Given the description of an element on the screen output the (x, y) to click on. 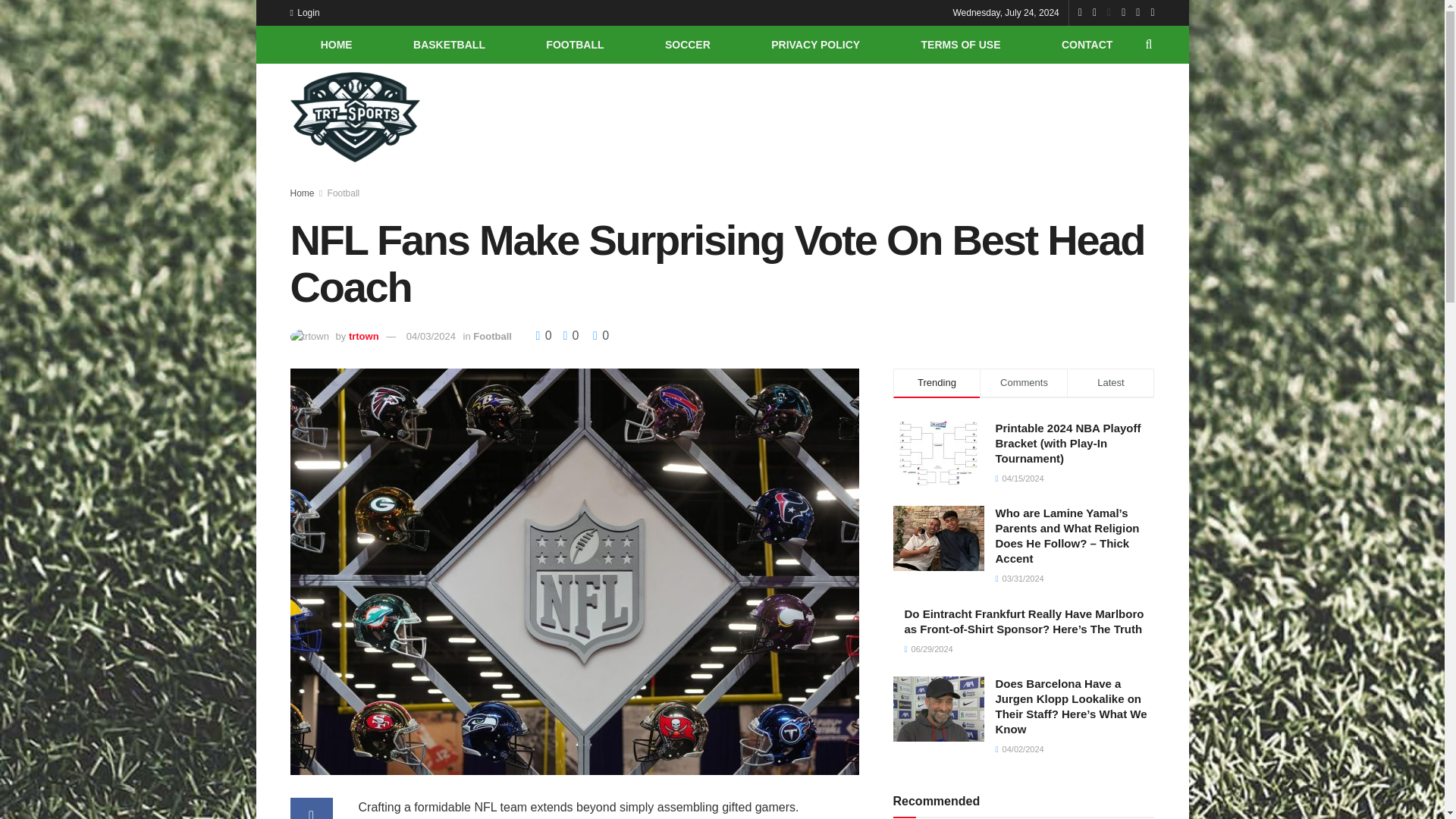
FOOTBALL (574, 44)
PRIVACY POLICY (815, 44)
TERMS OF USE (959, 44)
trtown (363, 336)
Home (301, 193)
0 (566, 335)
CONTACT (1086, 44)
HOME (335, 44)
BASKETBALL (448, 44)
0 (600, 335)
SOCCER (687, 44)
Football (343, 193)
Login (303, 12)
Football (492, 336)
0 (544, 335)
